Given the description of an element on the screen output the (x, y) to click on. 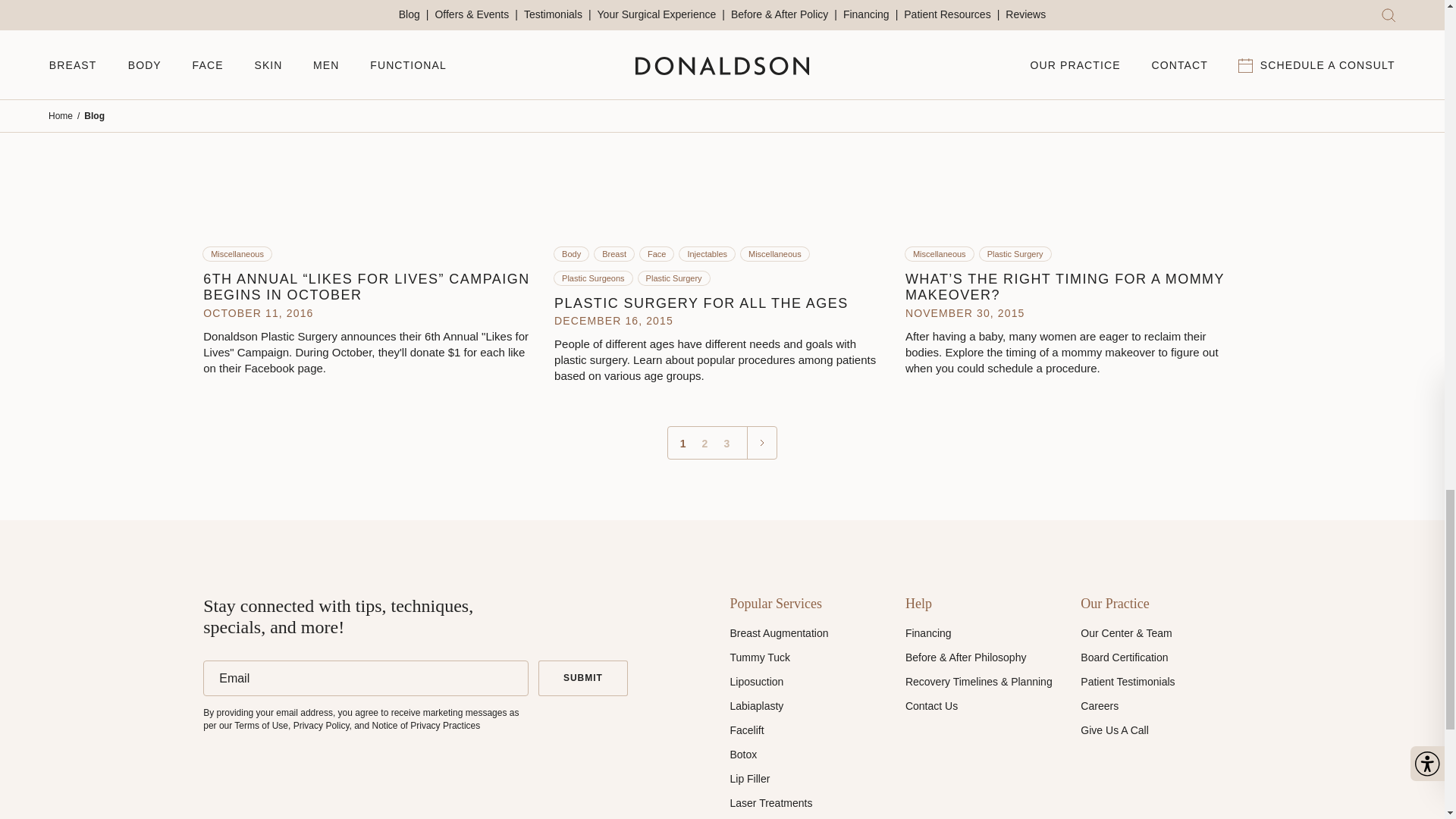
Submit (582, 677)
